Given the description of an element on the screen output the (x, y) to click on. 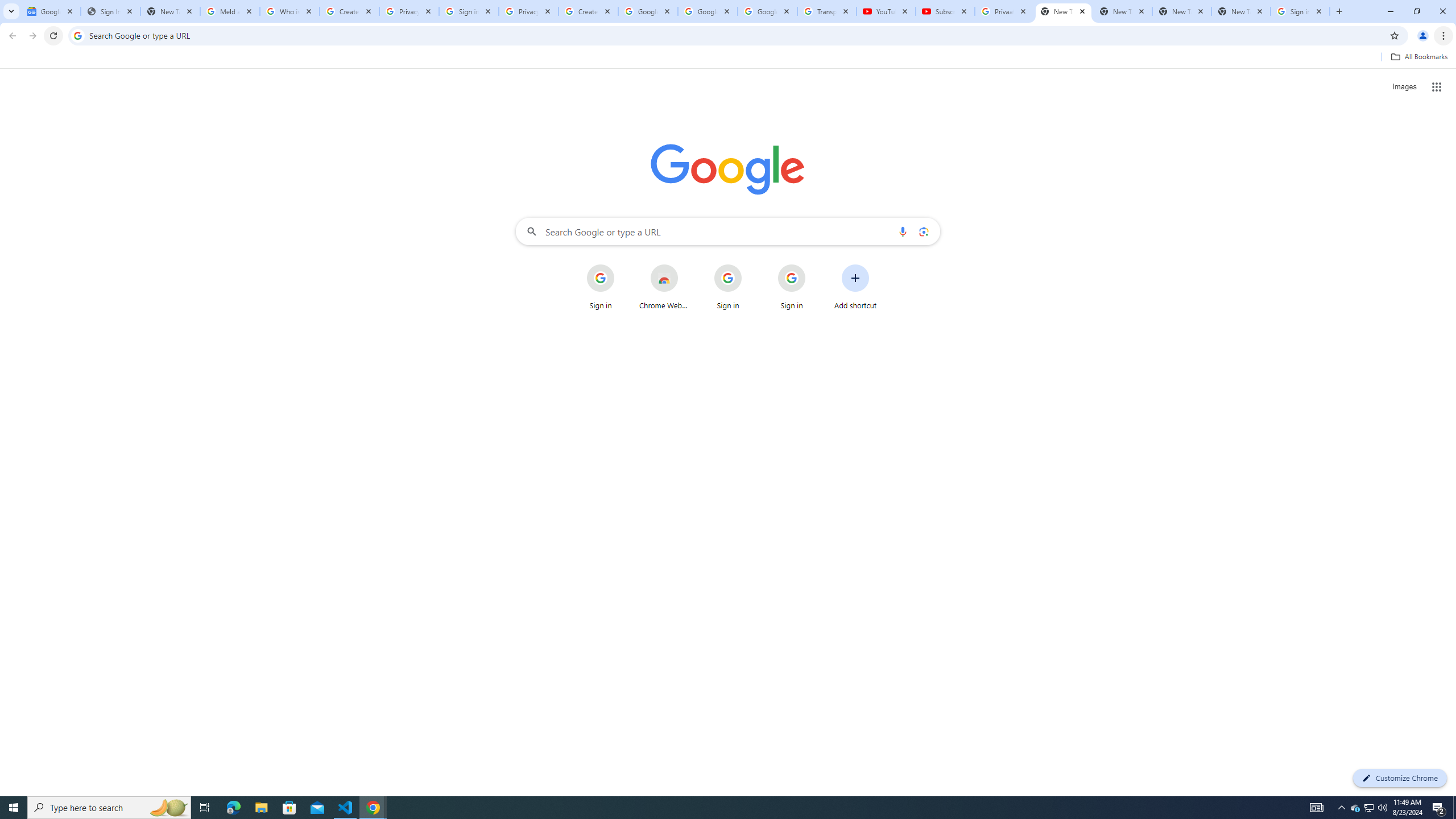
More actions for Chrome Web Store shortcut (686, 265)
Subscriptions - YouTube (944, 11)
Who is my administrator? - Google Account Help (289, 11)
